Given the description of an element on the screen output the (x, y) to click on. 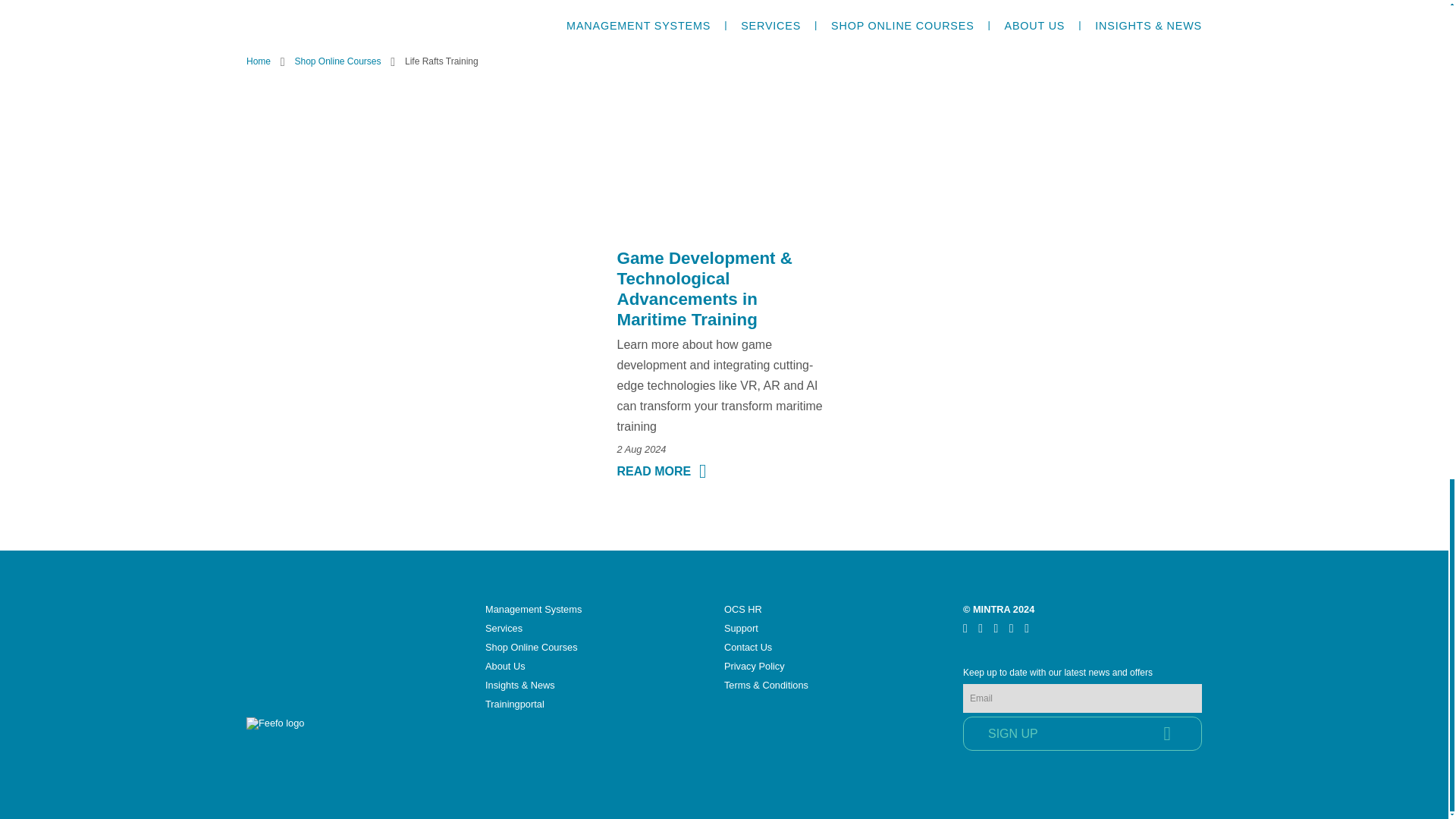
See what our customers say about us (312, 734)
